Given the description of an element on the screen output the (x, y) to click on. 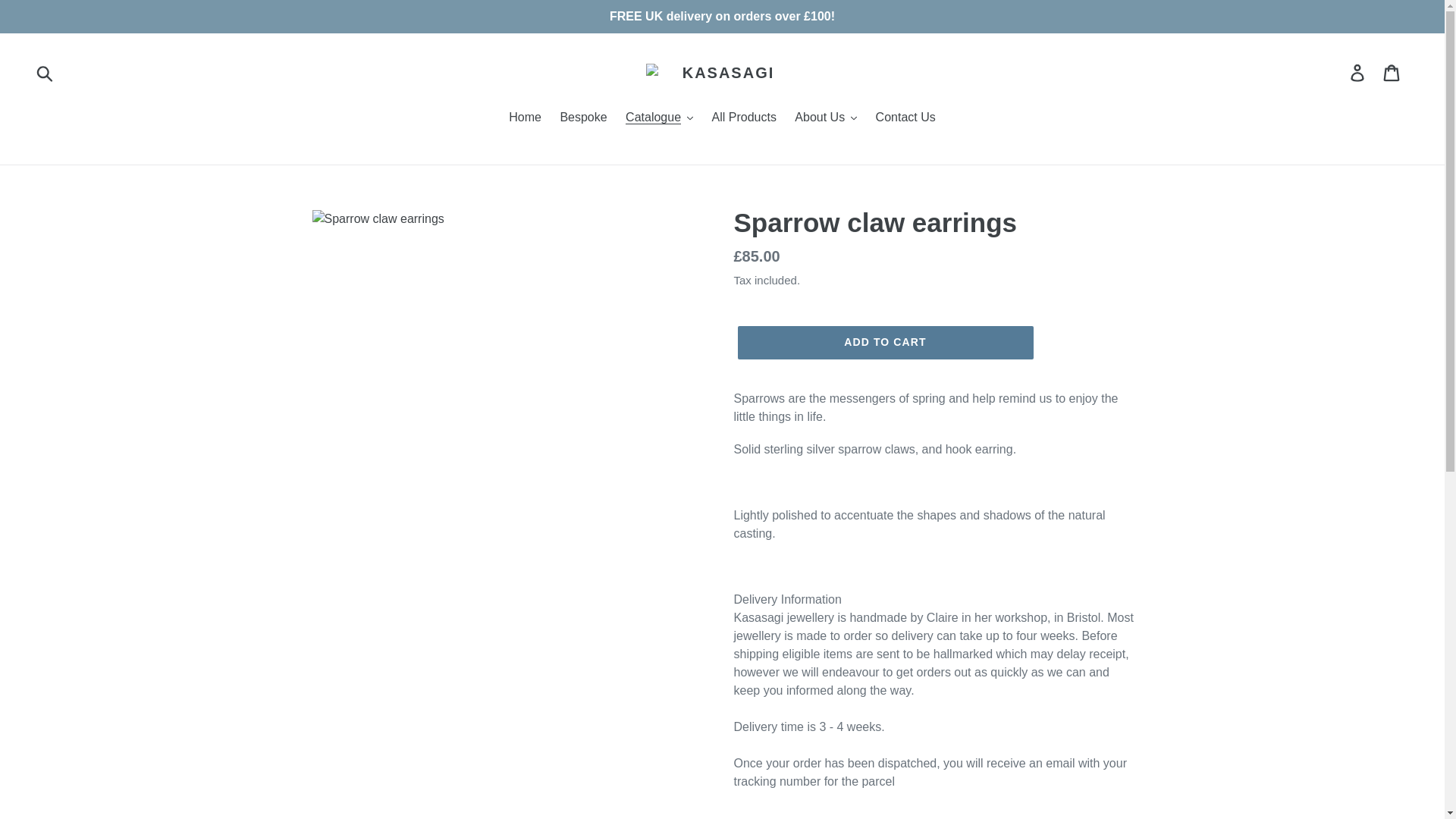
Log in (1357, 72)
Cart (1392, 72)
Home (524, 118)
Submit (45, 72)
Bespoke (582, 118)
